Given the description of an element on the screen output the (x, y) to click on. 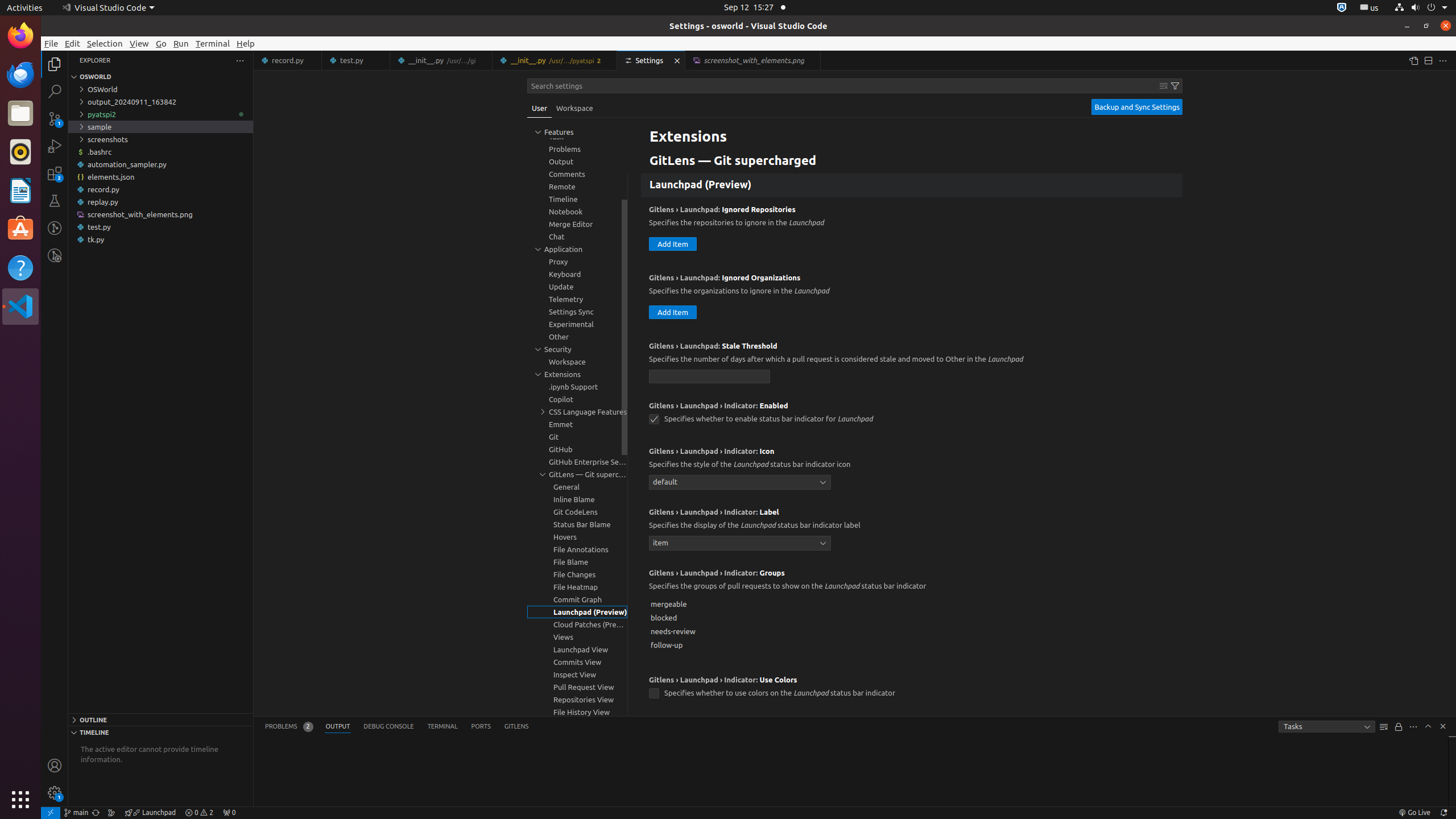
Run Element type: push-button (181, 43)
Terminal, group Element type: tree-item (577, 123)
Task, group Element type: tree-item (577, 136)
Workspace, group Element type: tree-item (577, 361)
Gitlens › Launchpad Ignored Organizations. Specifies the organizations to ignore in the Launchpad  Element type: tree-item (911, 299)
